Given the description of an element on the screen output the (x, y) to click on. 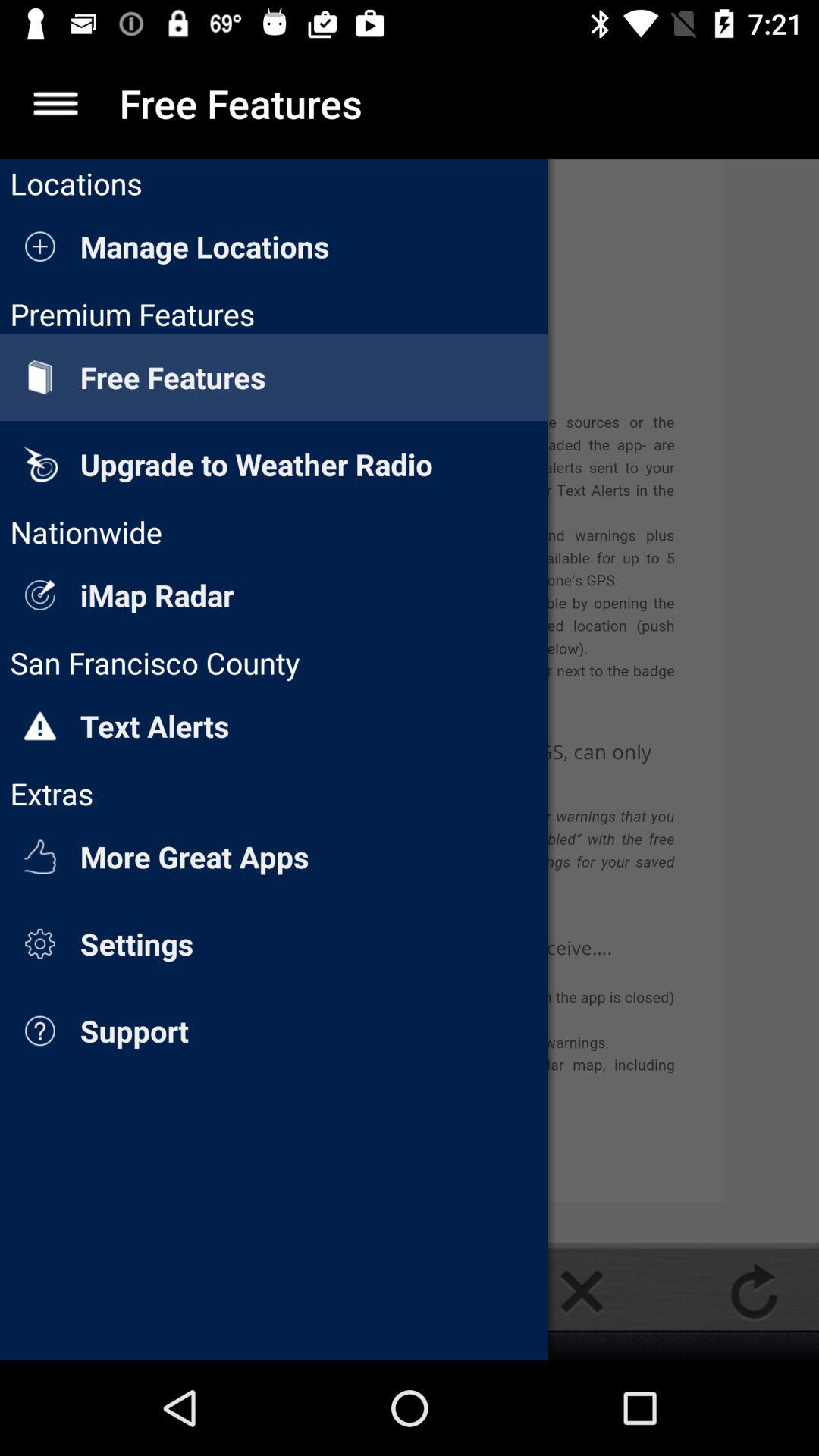
click the option to reload the page (754, 1291)
